Given the description of an element on the screen output the (x, y) to click on. 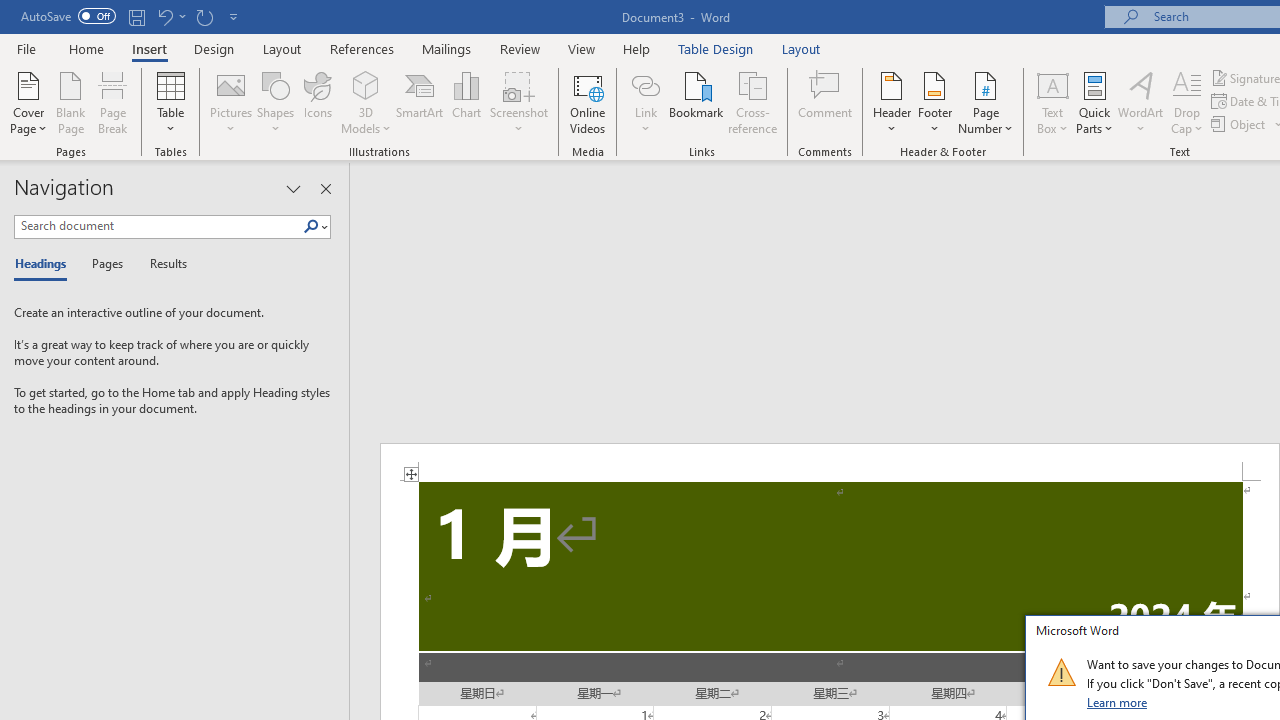
Bookmark... (695, 102)
Blank Page (70, 102)
Shapes (275, 102)
Link (645, 102)
Link (645, 84)
Comment (825, 102)
Online Videos... (588, 102)
